Given the description of an element on the screen output the (x, y) to click on. 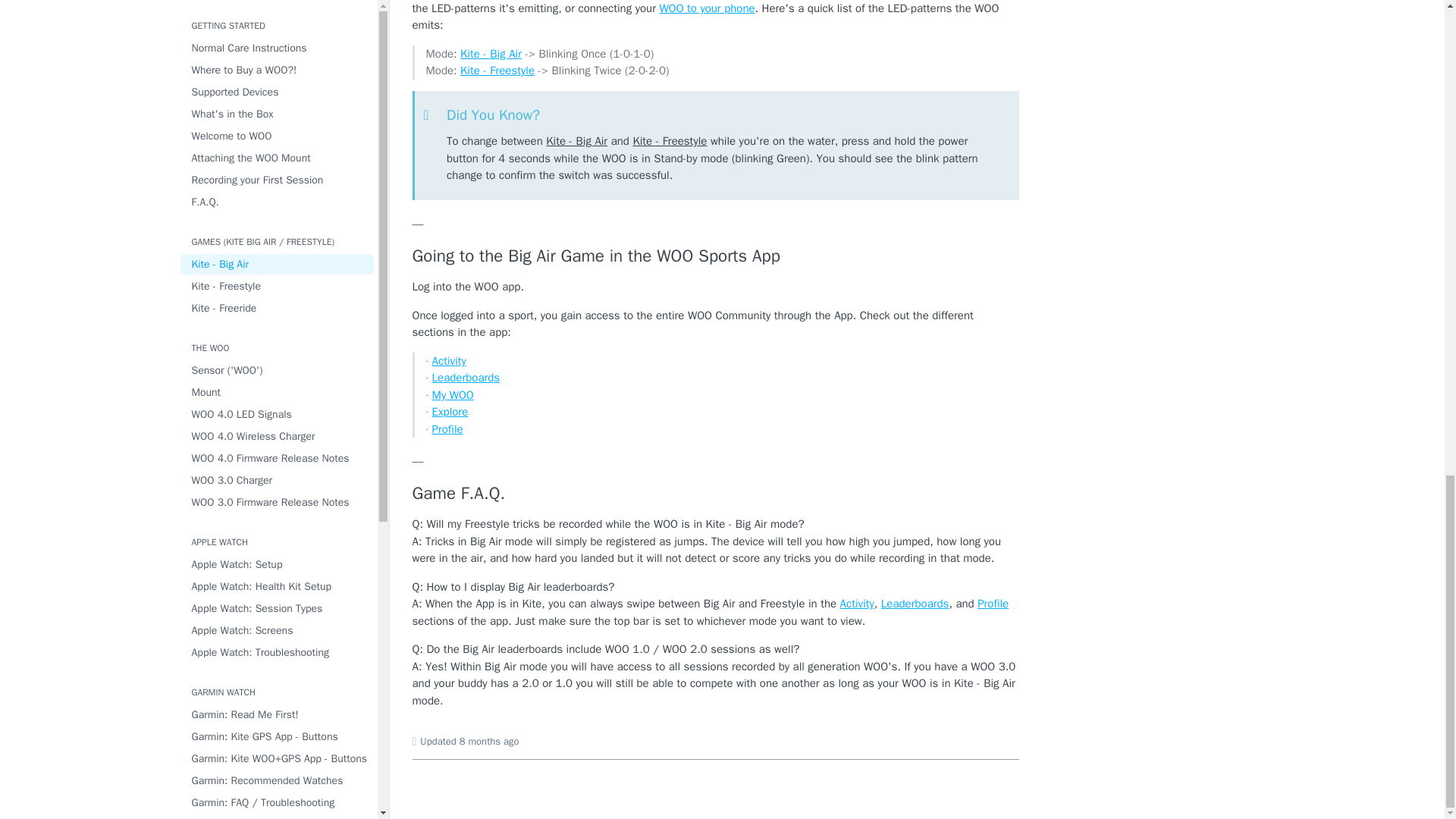
Going to the Big Air Game in the WOO Sports App (715, 255)
Game F.A.Q. (715, 493)
